Given the description of an element on the screen output the (x, y) to click on. 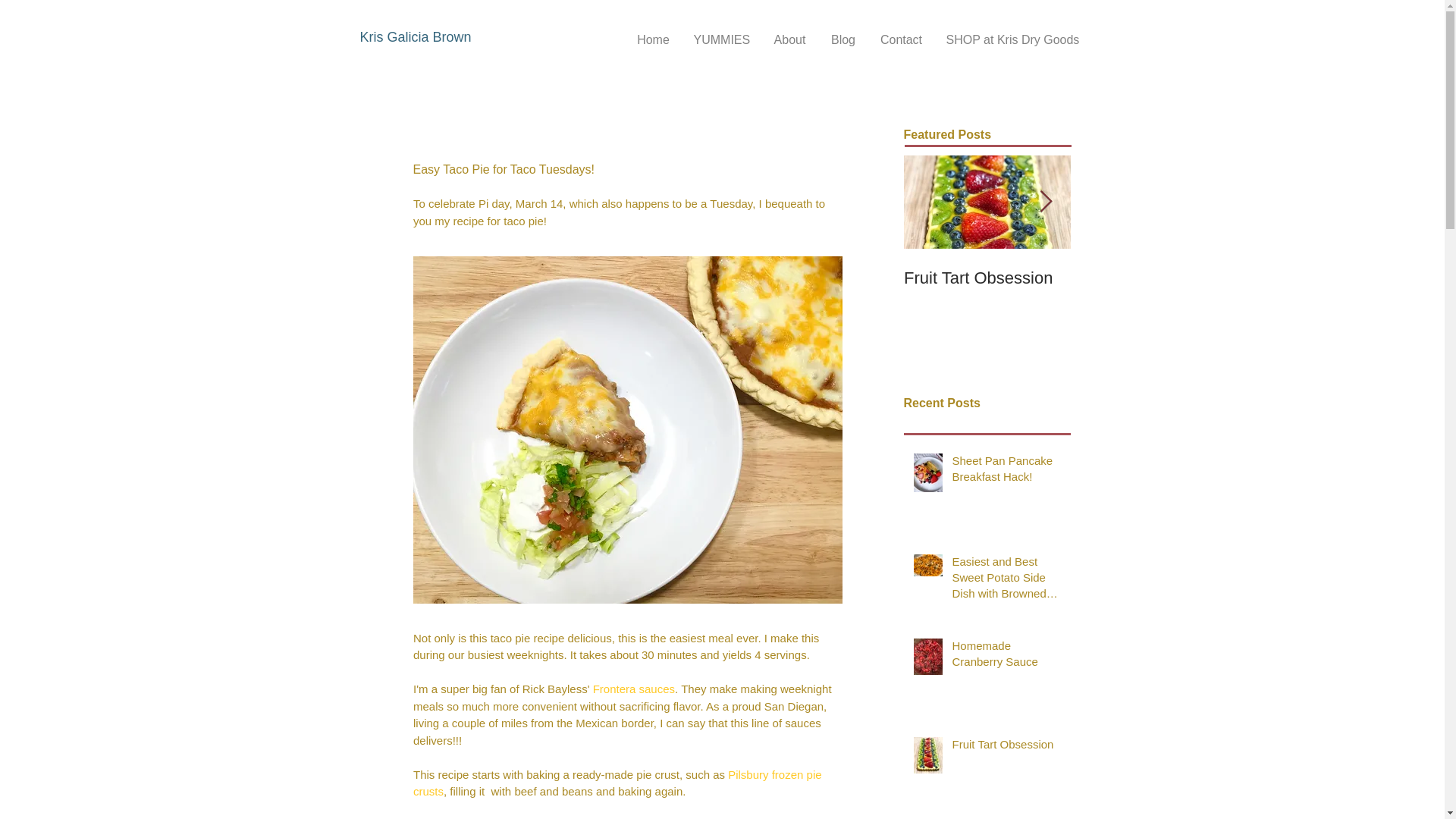
Sheet Pan Pancake Breakfast Hack! (1006, 471)
Contact (900, 40)
YUMMIES (721, 40)
Homemade Cranberry Sauce (1006, 656)
SHOP at Kris Dry Goods (1012, 40)
Kris Galicia Brown (414, 37)
About (789, 40)
Blog (842, 40)
Home (653, 40)
